Given the description of an element on the screen output the (x, y) to click on. 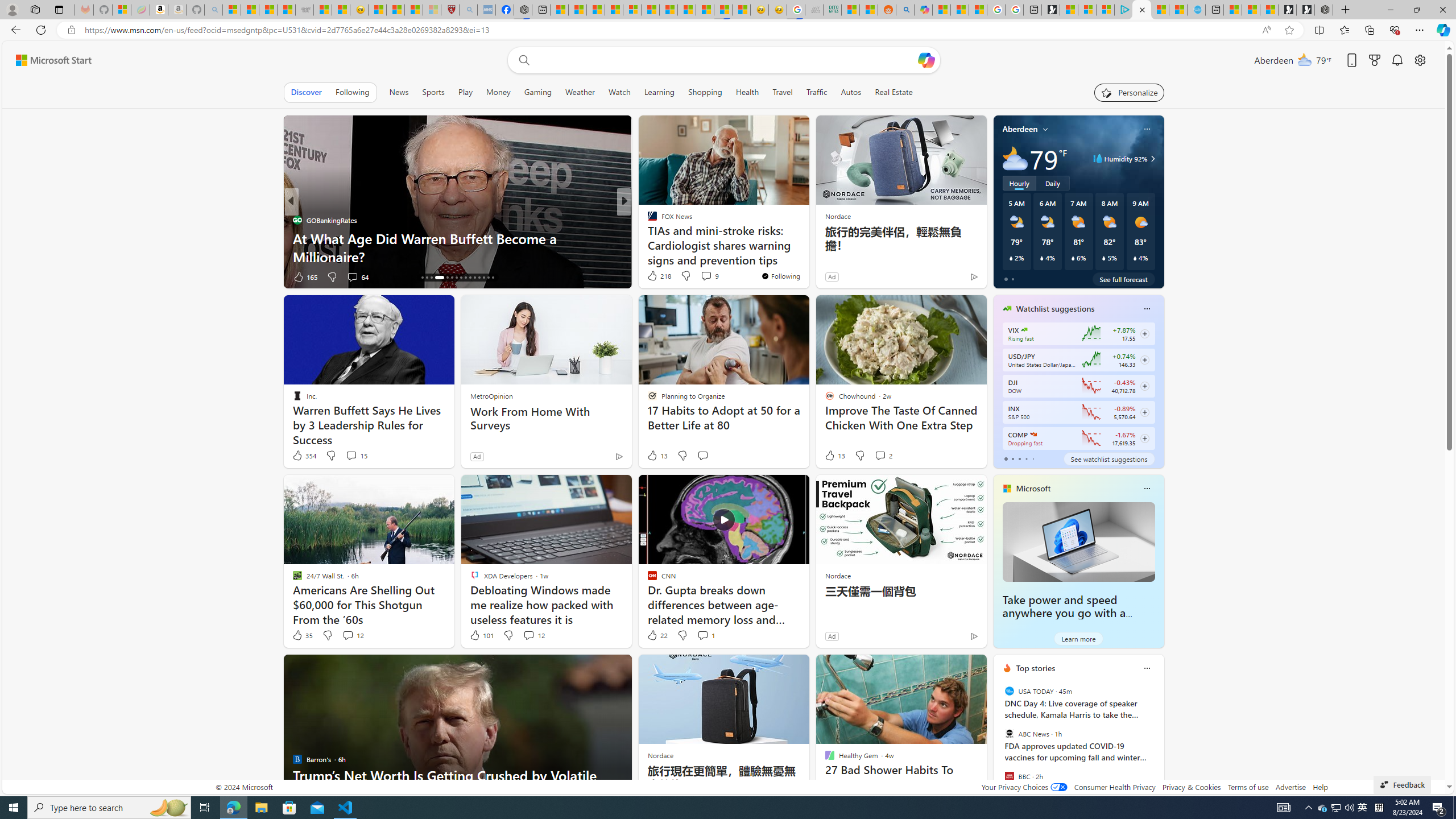
AutomationID: tab-28 (483, 277)
400 Like (654, 276)
Humidity 92% (1150, 158)
You're following FOX News (780, 275)
AutomationID: tab-17 (426, 277)
